Given the description of an element on the screen output the (x, y) to click on. 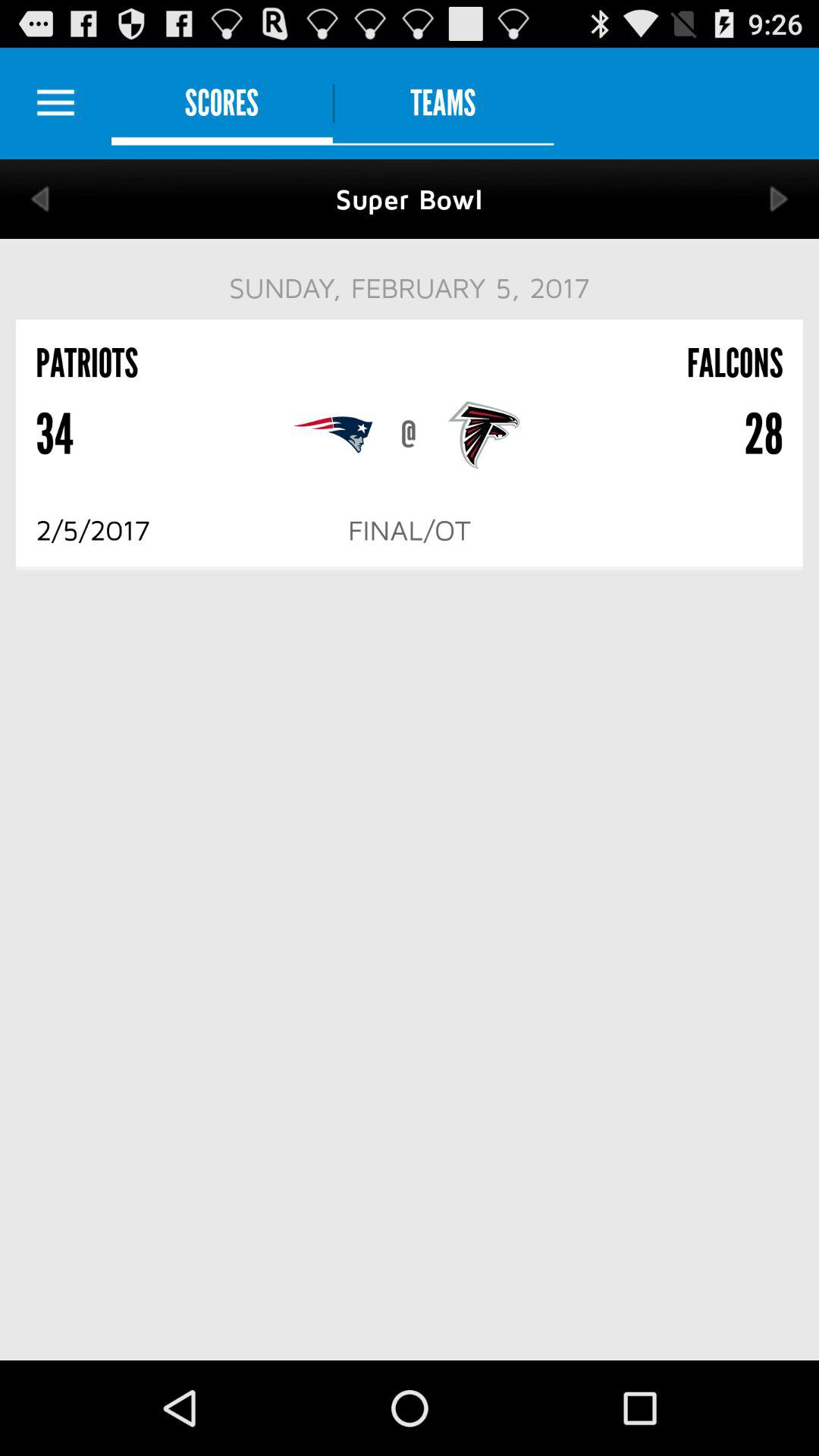
go to next game (779, 198)
